Given the description of an element on the screen output the (x, y) to click on. 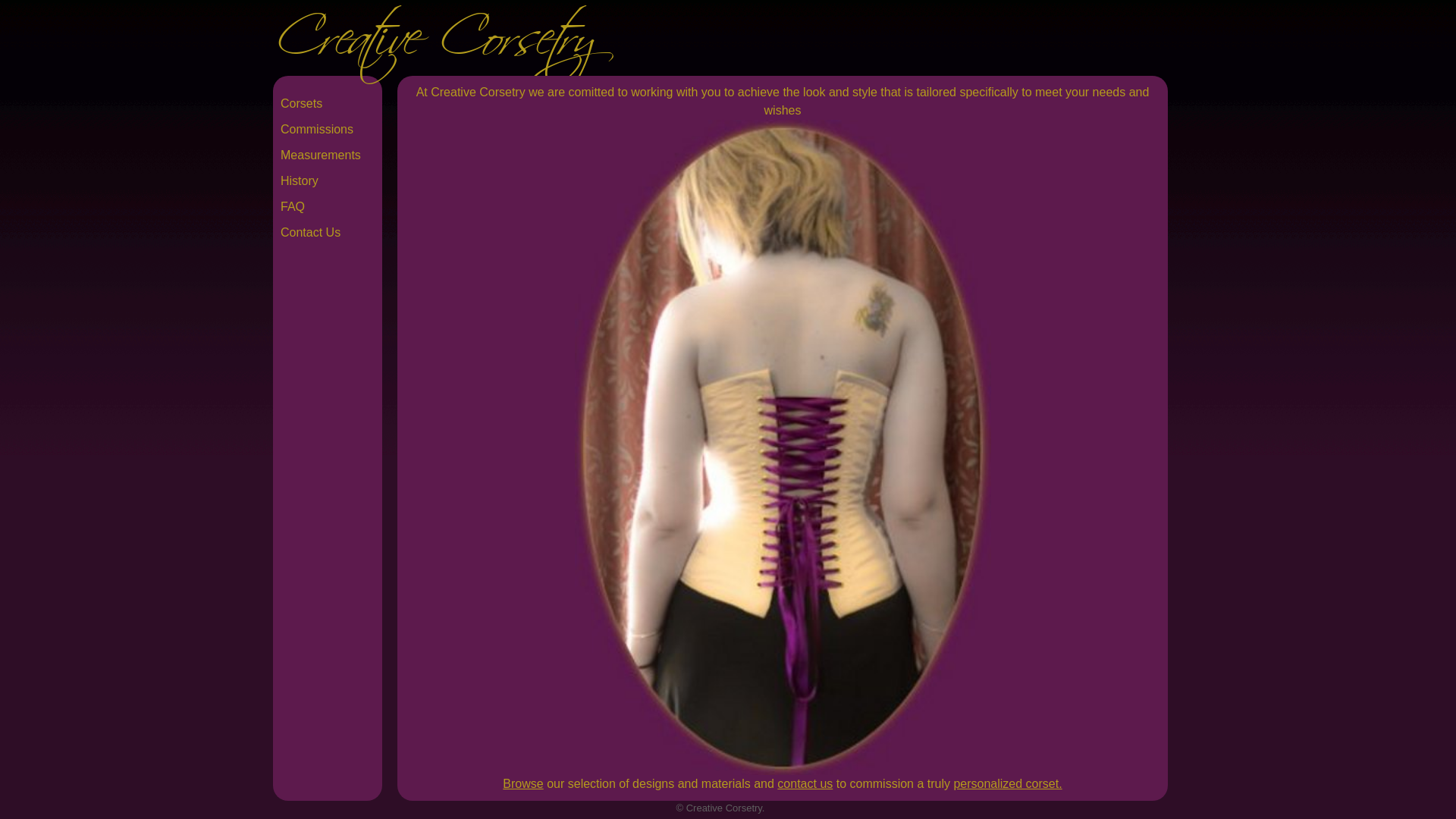
History Element type: text (327, 181)
personalized corset. Element type: text (1007, 783)
FAQ Element type: text (327, 206)
contact us Element type: text (804, 783)
Commissions Element type: text (327, 129)
Contact Us Element type: text (327, 232)
Corsets Element type: text (327, 103)
Browse Element type: text (522, 783)
Measurements Element type: text (327, 155)
